Given the description of an element on the screen output the (x, y) to click on. 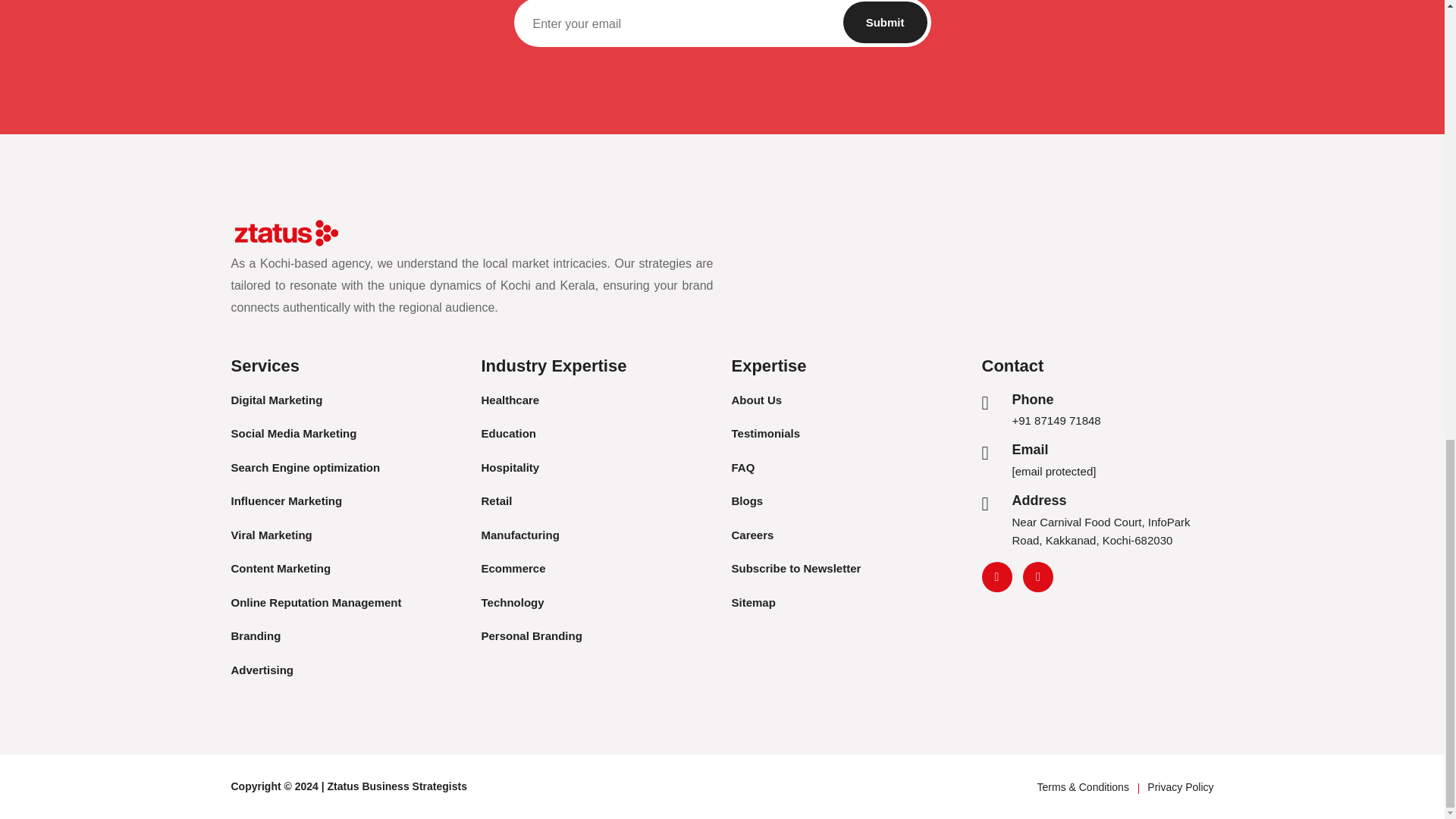
Content Marketing (280, 567)
Search Engine optimization (305, 467)
Online Reputation Management (315, 602)
Digital Marketing (275, 399)
Social Media Marketing (293, 432)
Viral Marketing (270, 534)
Submit (885, 22)
Influencer Marketing (286, 500)
